Given the description of an element on the screen output the (x, y) to click on. 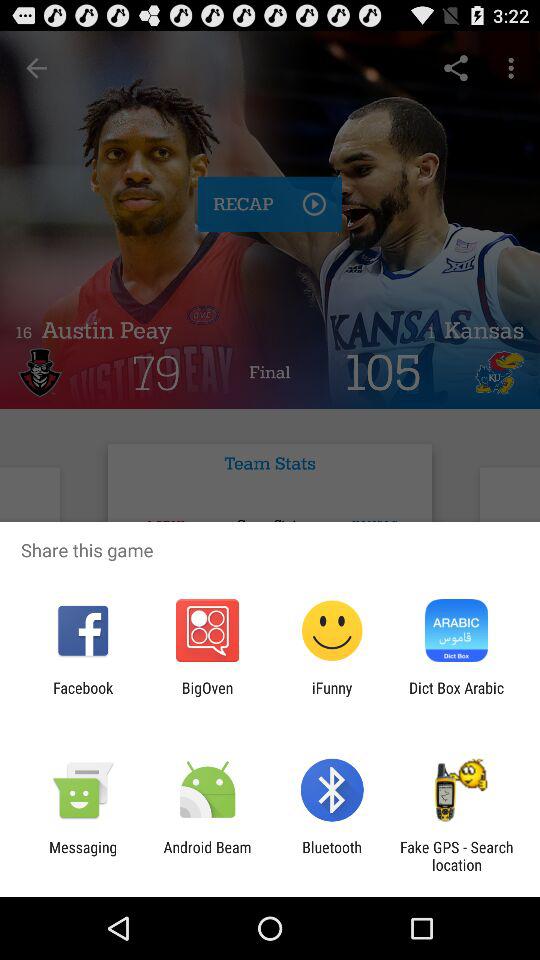
press app to the right of bigoven item (332, 696)
